Given the description of an element on the screen output the (x, y) to click on. 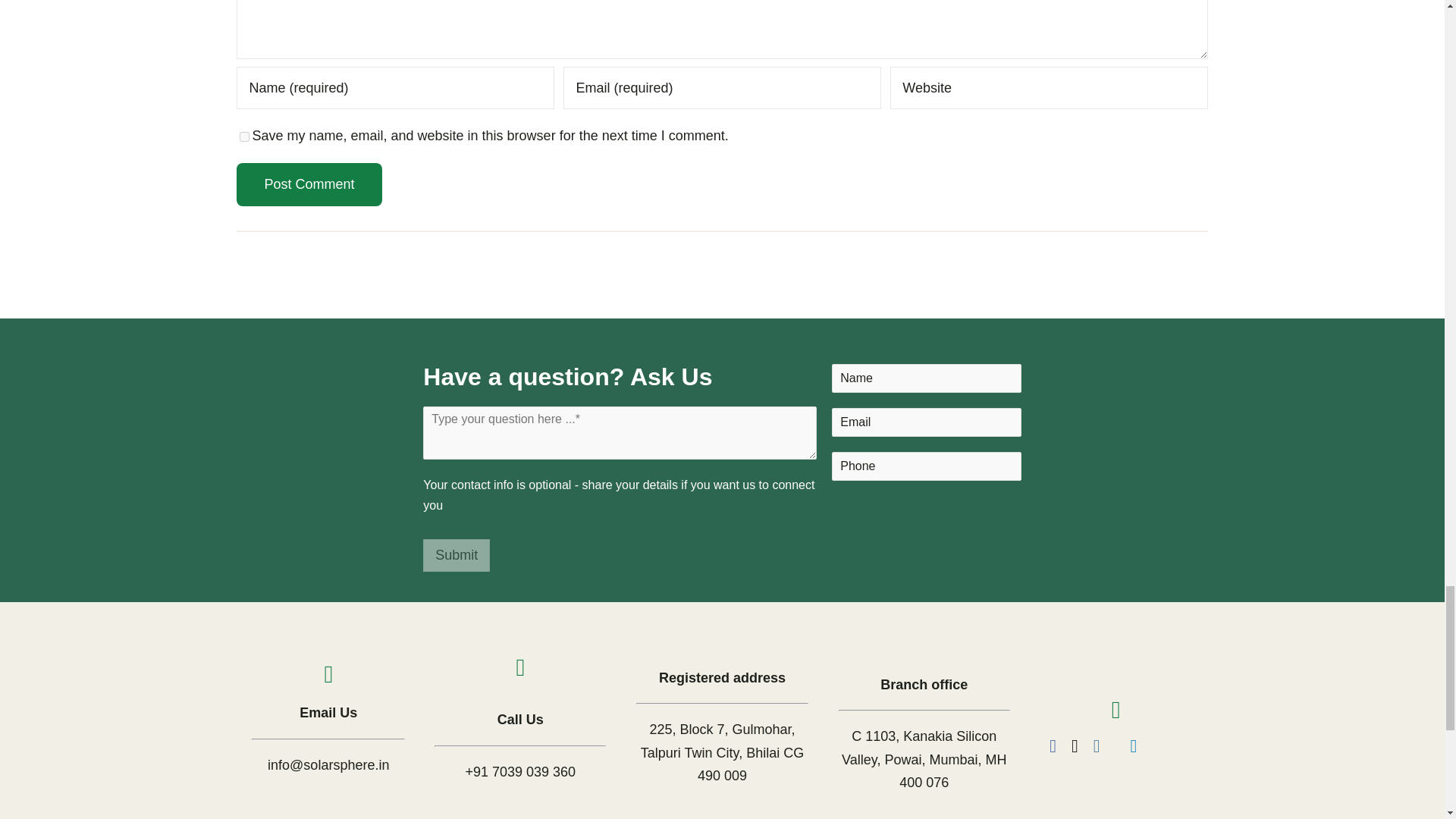
yes (244, 136)
Post Comment (308, 184)
